Given the description of an element on the screen output the (x, y) to click on. 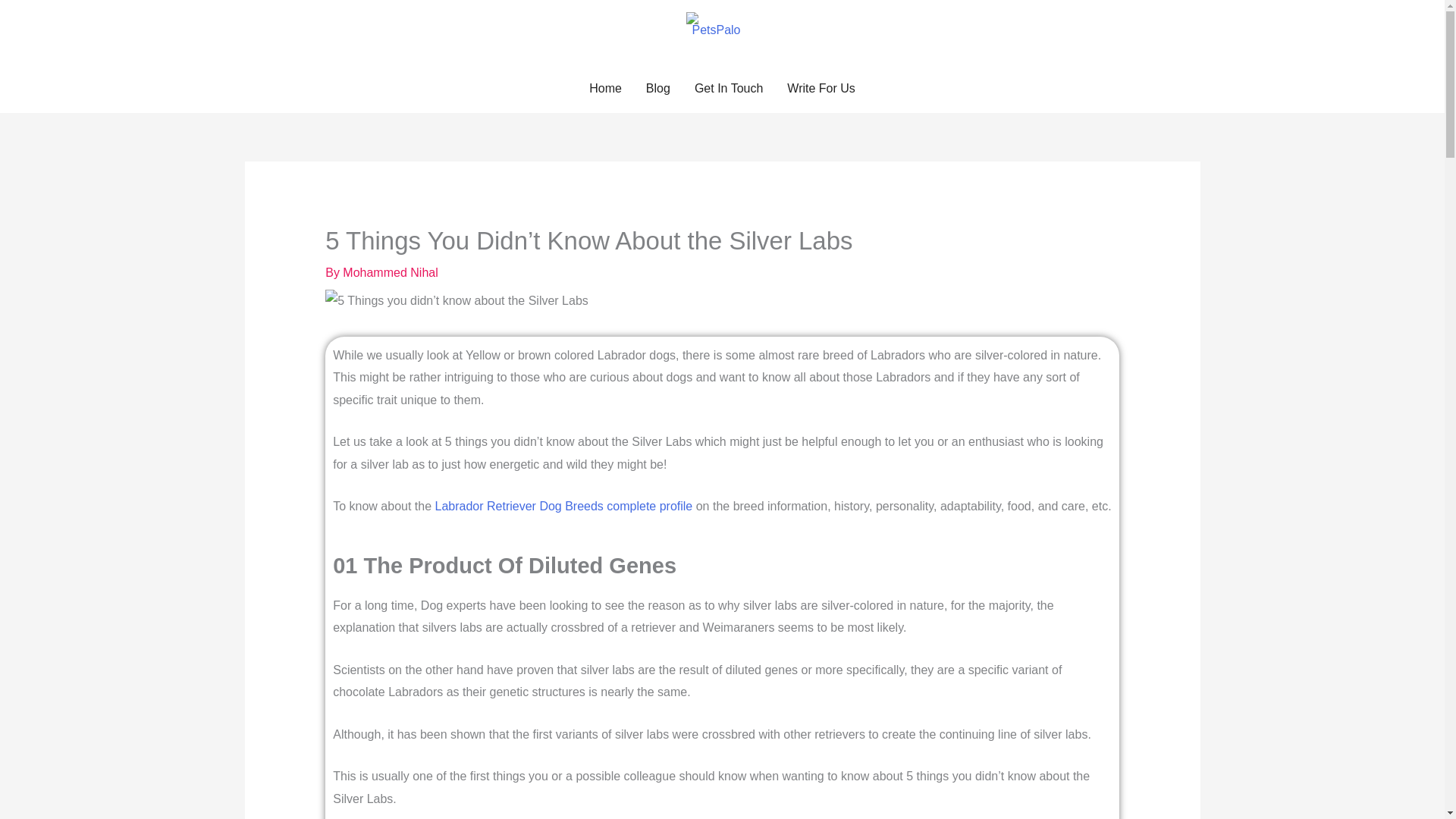
View all posts by Mohammed Nihal (390, 272)
Write For Us (820, 88)
Mohammed Nihal (390, 272)
Get In Touch (728, 88)
Home (604, 88)
Labrador Retriever Dog Breeds (564, 505)
Labrador Retriever Dog Breeds complete profile (564, 505)
Blog (657, 88)
